Given the description of an element on the screen output the (x, y) to click on. 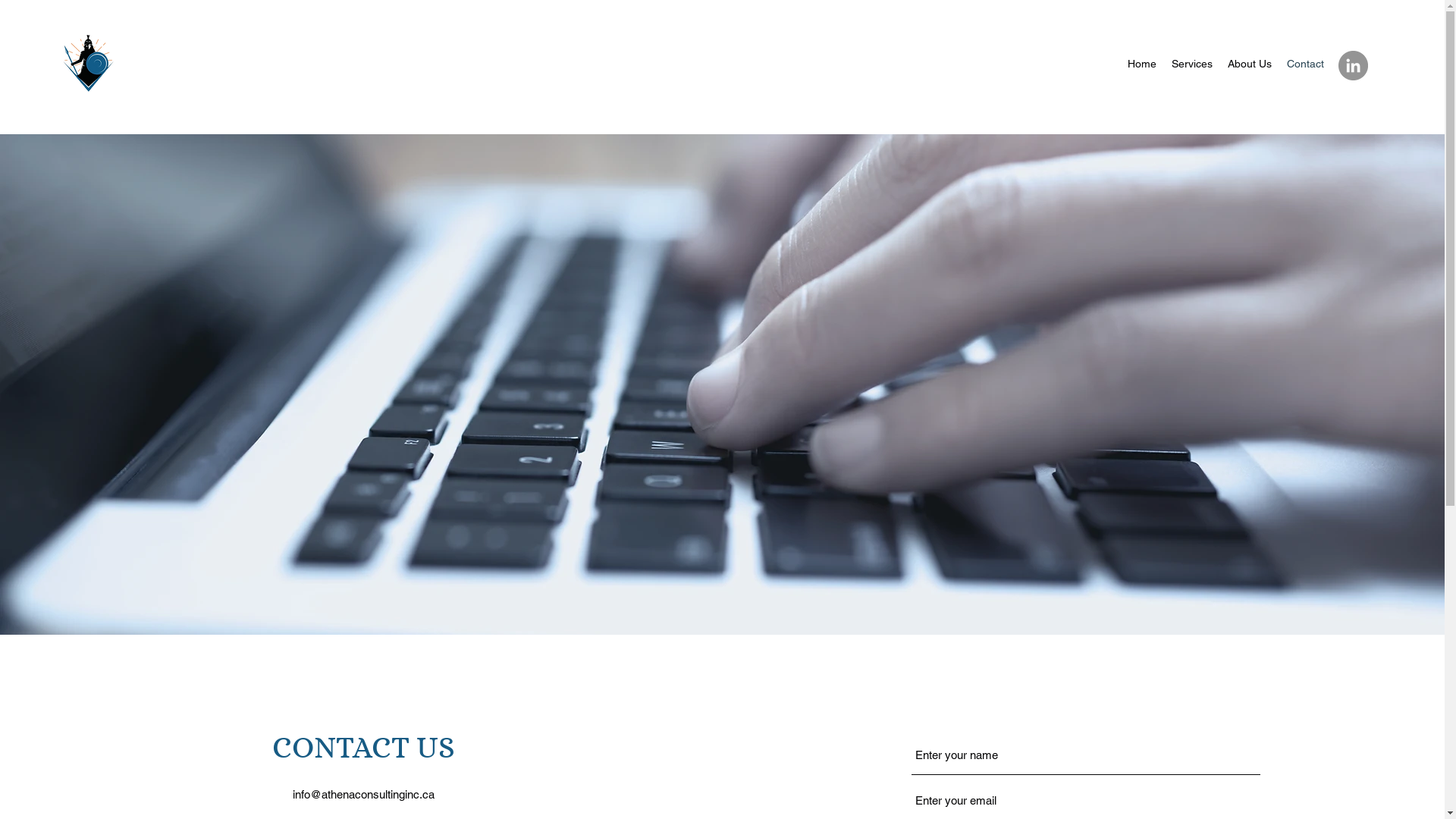
Contact Element type: text (1305, 63)
info@athenaconsultinginc.ca Element type: text (363, 793)
About Us Element type: text (1249, 63)
Home Element type: text (1142, 63)
Services Element type: text (1192, 63)
